Given the description of an element on the screen output the (x, y) to click on. 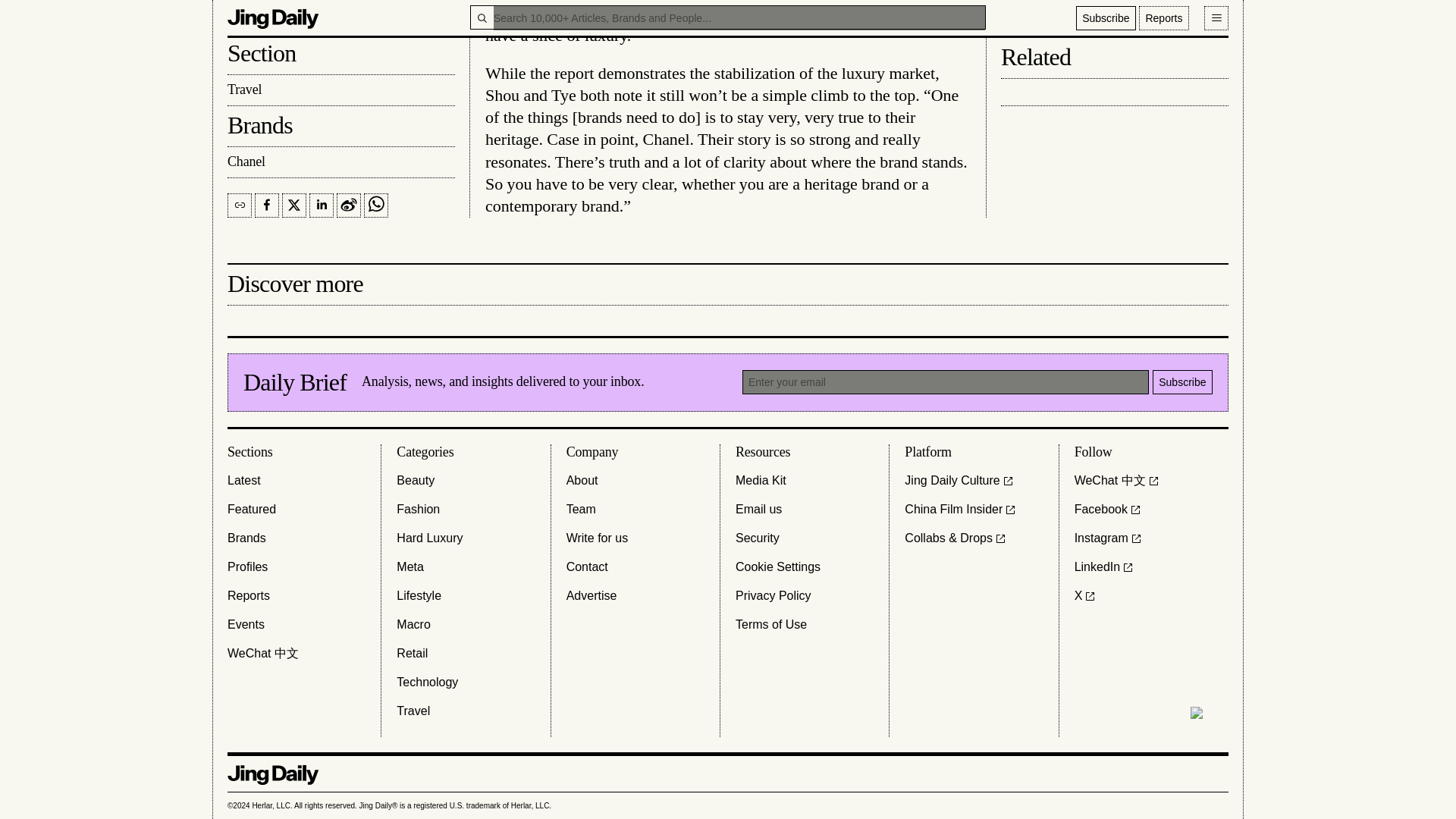
Events (245, 624)
Macro (412, 624)
Subscribe (1182, 381)
Featured (251, 509)
Meta (409, 567)
Lifestyle (418, 595)
Retail (412, 653)
Brands (246, 537)
Latest (243, 480)
Macro (412, 624)
Hard Luxury (429, 537)
Beauty (414, 480)
Cookie Settings (778, 567)
Advertise (591, 595)
Beauty (414, 480)
